Given the description of an element on the screen output the (x, y) to click on. 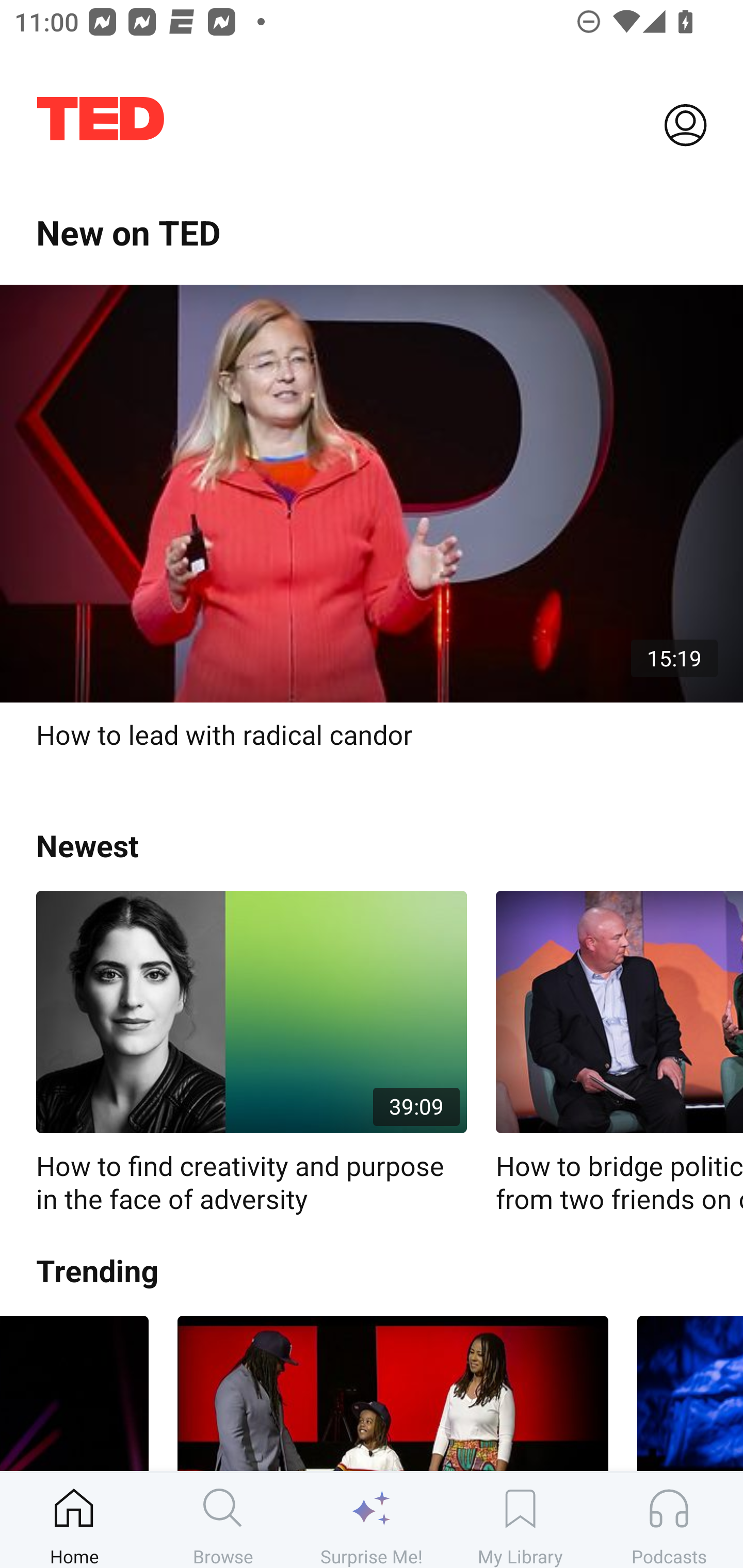
Home (74, 1520)
Browse (222, 1520)
Surprise Me! (371, 1520)
My Library (519, 1520)
Podcasts (668, 1520)
